Given the description of an element on the screen output the (x, y) to click on. 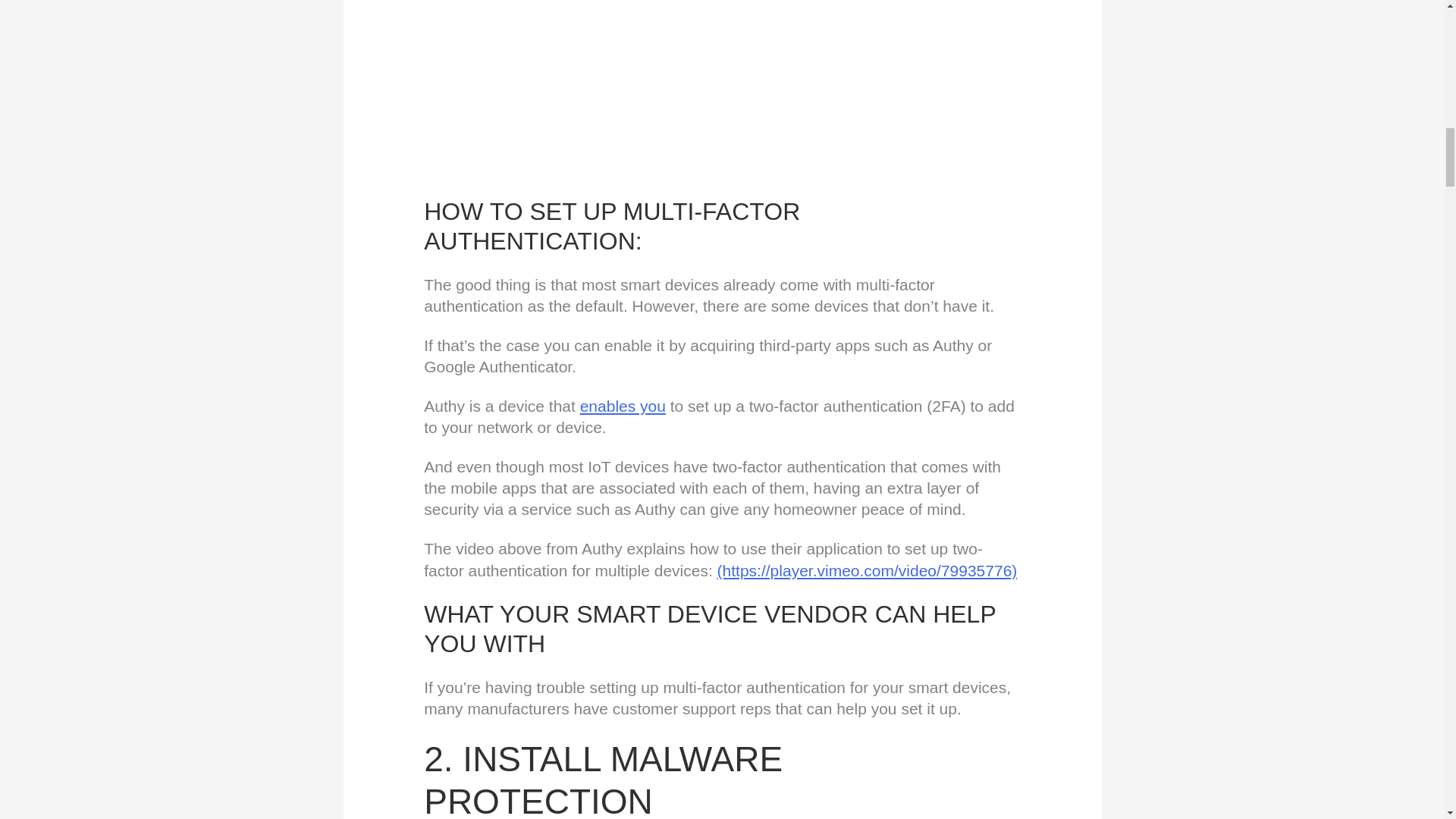
enables you (622, 405)
Multi device two-factor authentication with Authy. (721, 89)
